Given the description of an element on the screen output the (x, y) to click on. 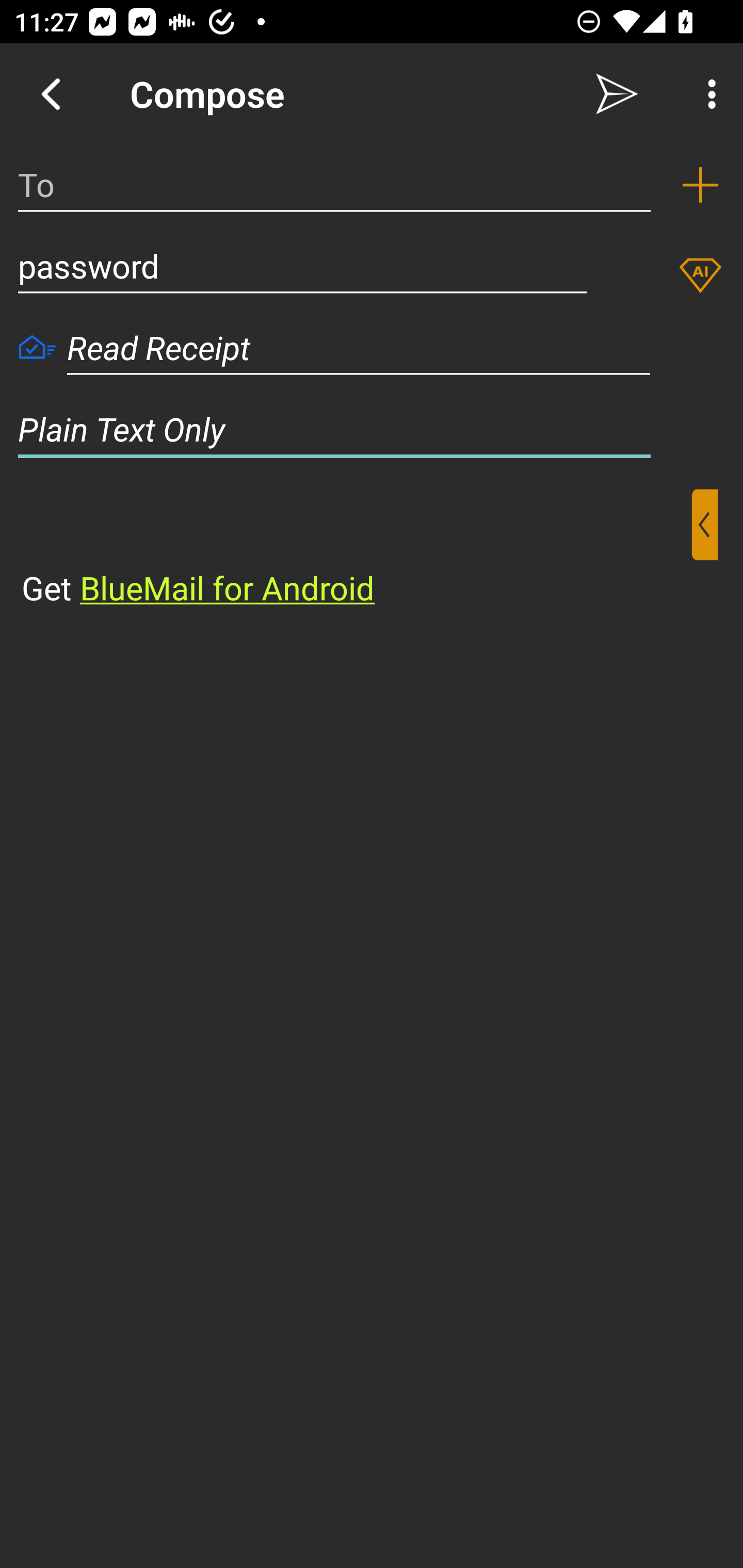
Navigate up (50, 93)
Send (616, 93)
More Options (706, 93)
To (334, 184)
Add recipient (To) (699, 184)
password (302, 266)
Read Receipt Read Receipt Read Receipt (371, 347)
Plain Text Only (371, 429)


⁣Get BlueMail for Android ​ (355, 549)
